Given the description of an element on the screen output the (x, y) to click on. 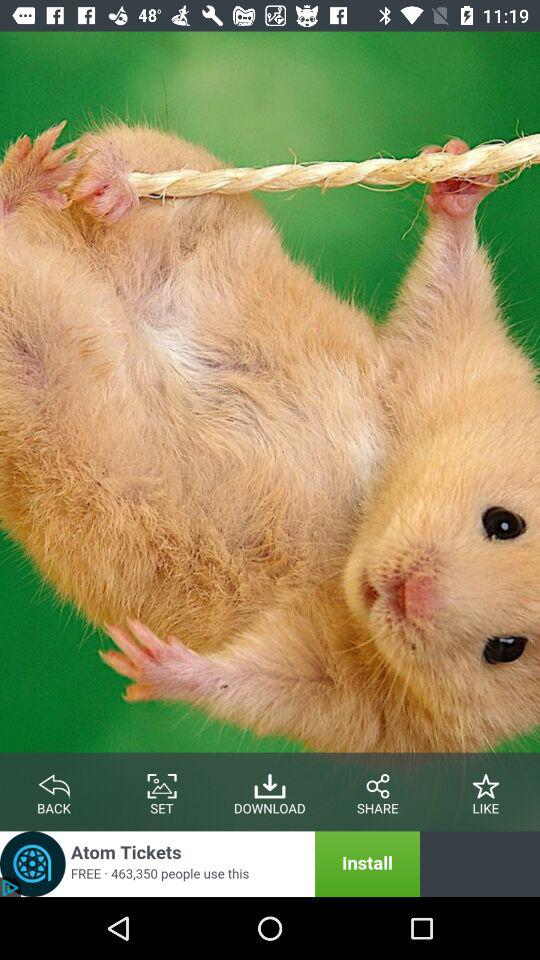
like th post (485, 782)
